Given the description of an element on the screen output the (x, y) to click on. 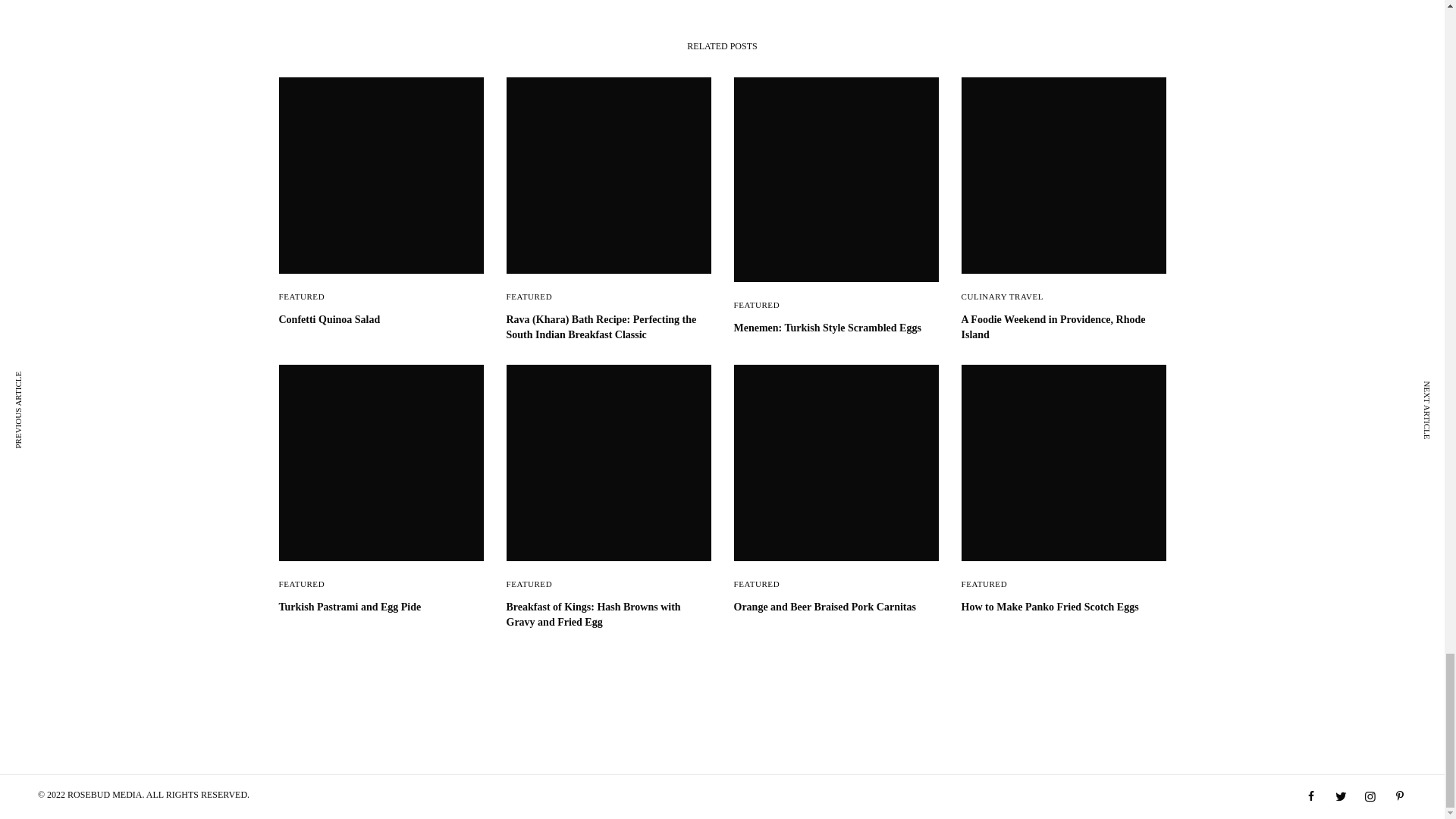
Breakfast of Kings: Hash Browns with Gravy and Fried Egg (608, 614)
A Foodie Weekend in Providence, Rhode Island (1063, 327)
Menemen: Turkish Style Scrambled Eggs (836, 328)
Confetti Quinoa Salad (381, 319)
Turkish Pastrami and Egg Pide (381, 607)
How to Make Panko Fried Scotch Eggs (1063, 607)
Orange and Beer Braised Pork Carnitas (836, 607)
